Given the description of an element on the screen output the (x, y) to click on. 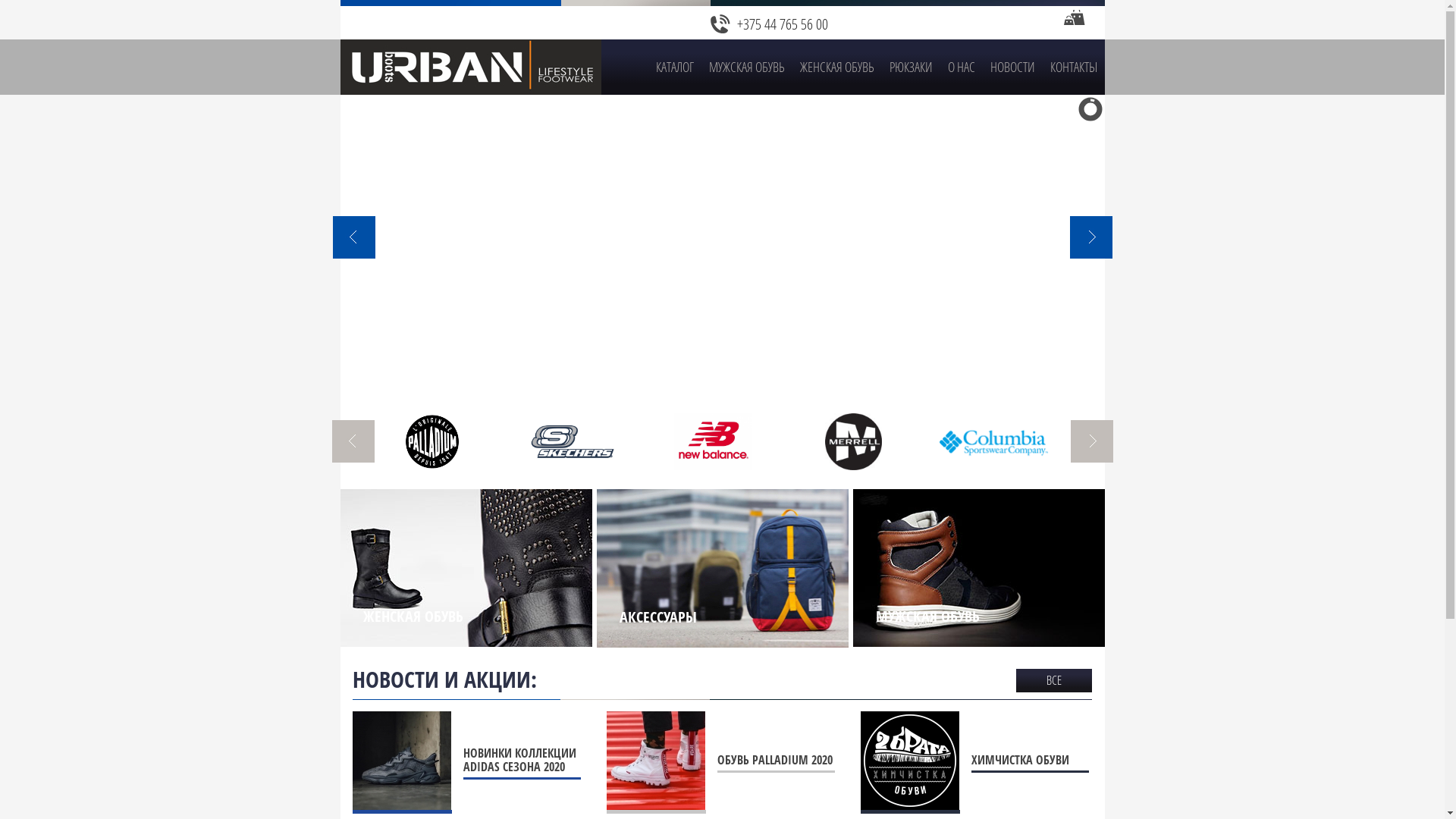
columbia Element type: hover (993, 441)
palladium Element type: hover (432, 441)
merrell Element type: hover (853, 441)
new balance Element type: hover (712, 441)
skechers Element type: hover (572, 441)
